Given the description of an element on the screen output the (x, y) to click on. 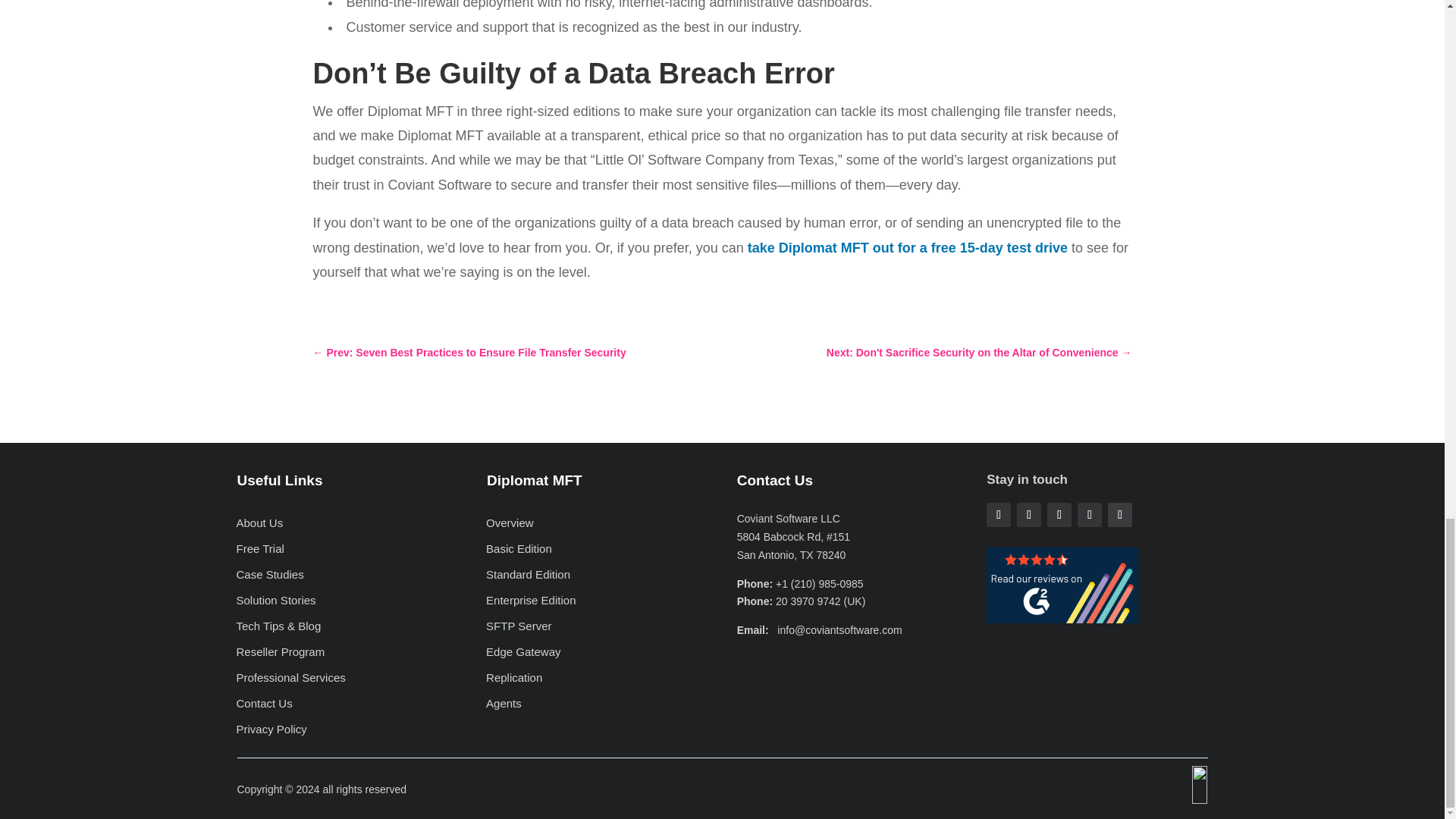
Read reviews of Diplomat Managed File Transfer on G2 (1062, 619)
Follow on LinkedIn (1089, 514)
Follow on Instagram (1058, 514)
Follow on Facebook (998, 514)
coviant-logo-white (1161, 784)
Follow on Youtube (1120, 514)
Follow on X (1028, 514)
